Given the description of an element on the screen output the (x, y) to click on. 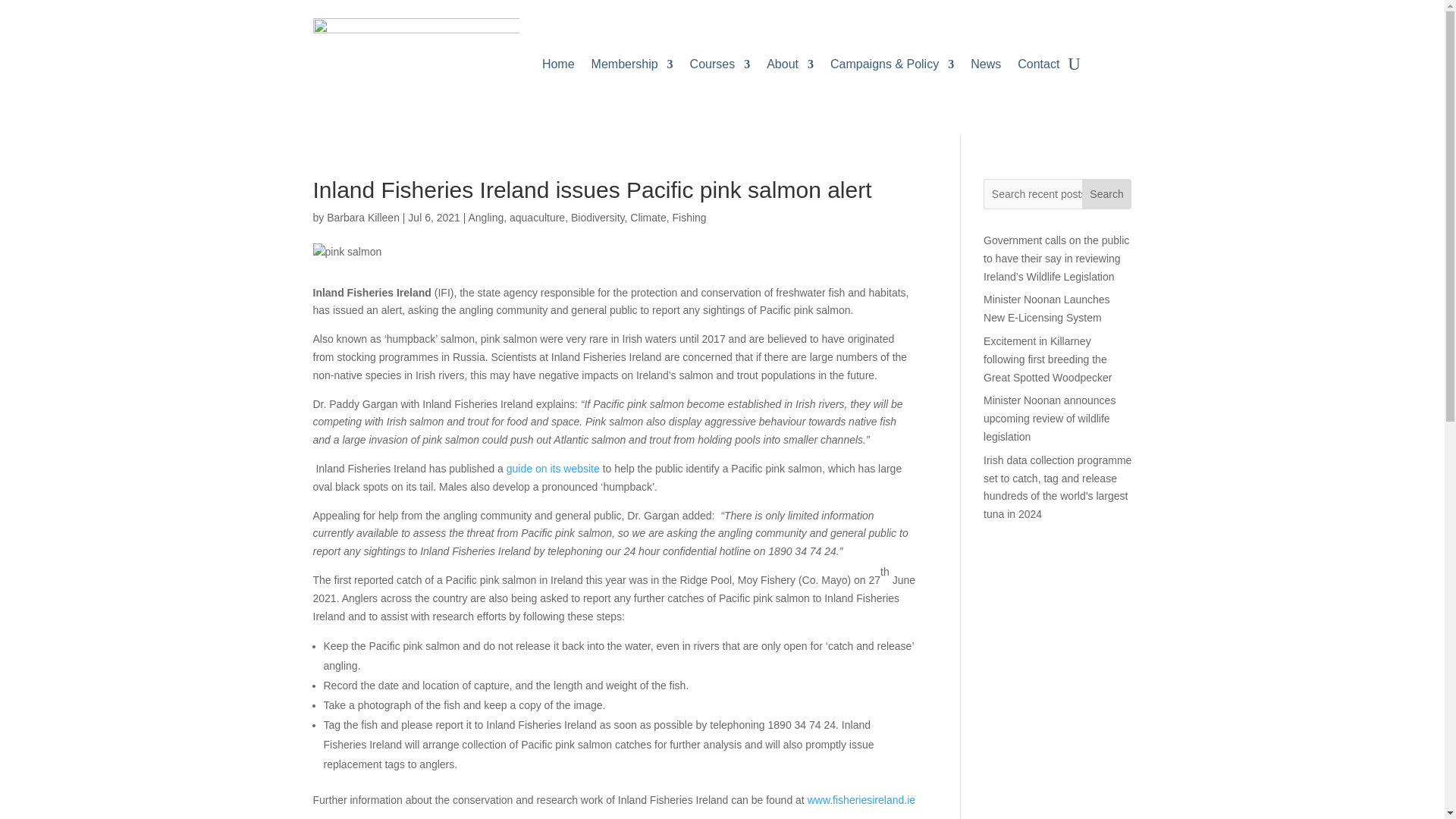
Posts by Barbara Killeen (362, 217)
Angling (485, 217)
www.fisheriesireland.ie (861, 799)
Minister Noonan Launches New E-Licensing System (1046, 308)
aquaculture (536, 217)
Climate (647, 217)
Fishing (689, 217)
Search (1106, 194)
